Given the description of an element on the screen output the (x, y) to click on. 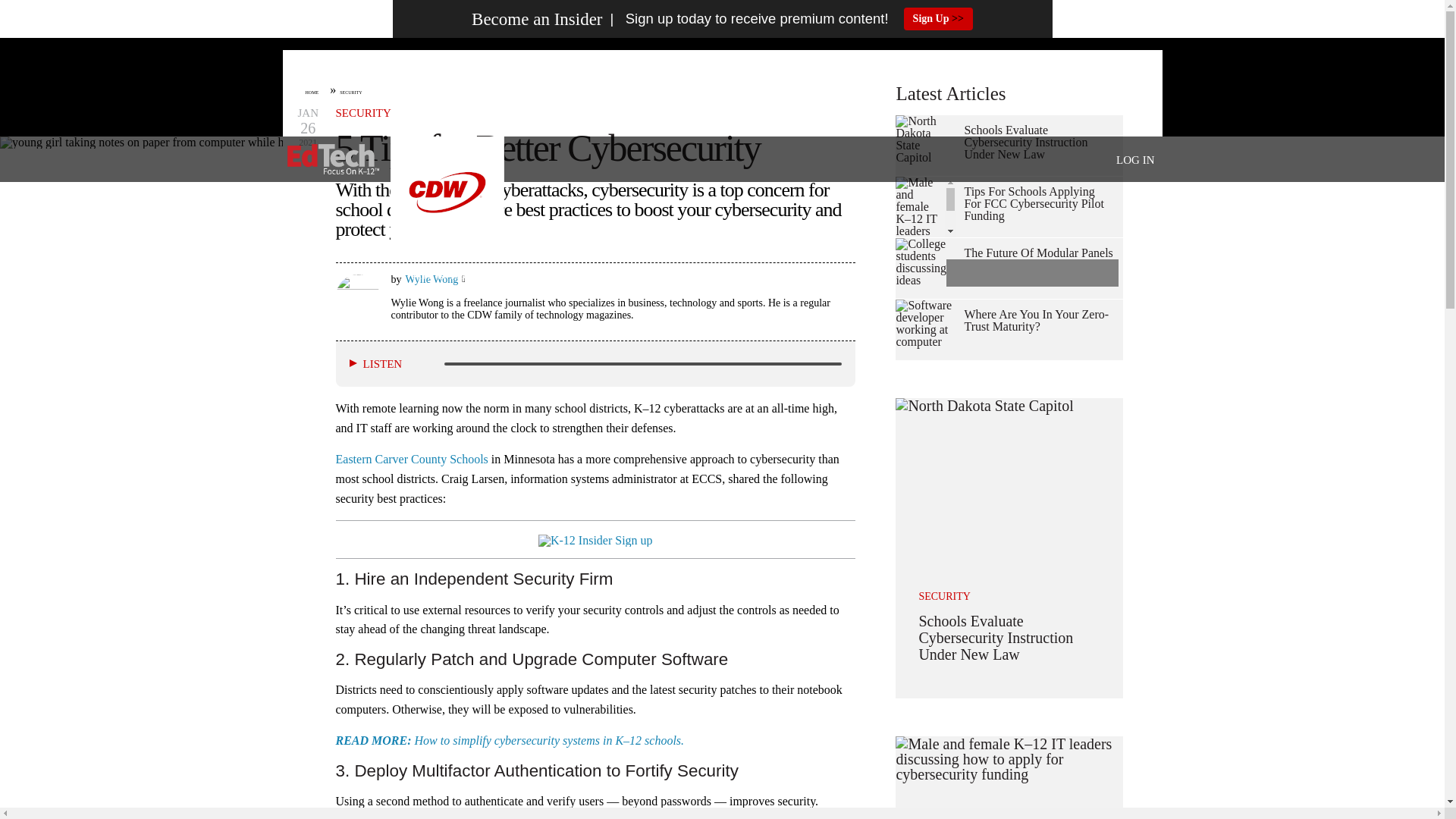
VOICES (539, 275)
LOG IN (1135, 159)
CDW (446, 244)
Become an Insider (536, 18)
VIDEO (682, 275)
Search (1097, 278)
Home (332, 158)
CONNECTIT (757, 275)
Sign Up (938, 18)
Sign up today to receive premium content! (745, 19)
FEATURES (612, 275)
User menu (1135, 160)
advertisement (721, 87)
STATES (365, 275)
